Given the description of an element on the screen output the (x, y) to click on. 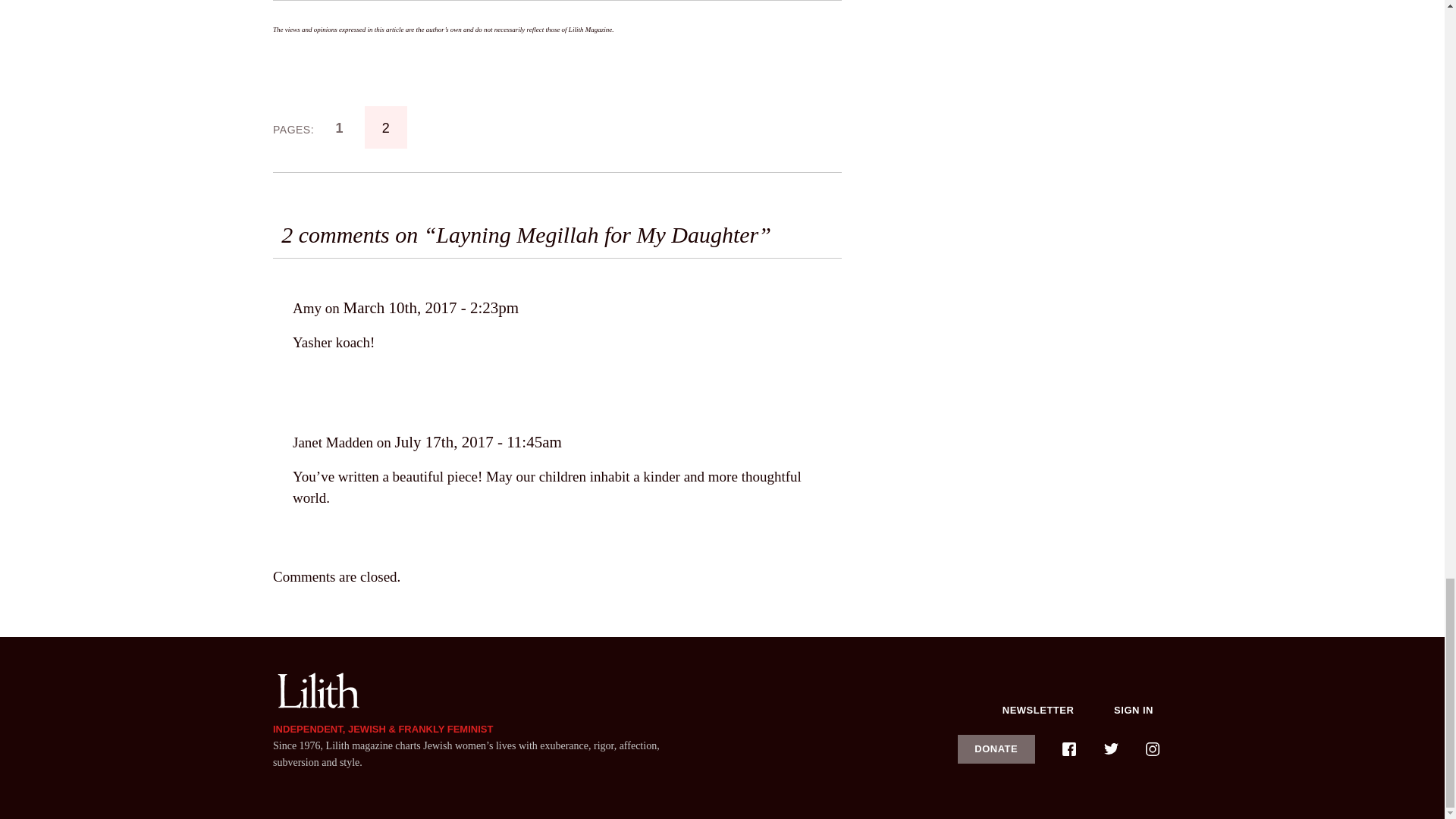
March 10th, 2017 - 2:23pm (430, 307)
DONATE (996, 748)
1 (338, 127)
SIGN IN (1134, 710)
NEWSLETTER (1038, 710)
July 17th, 2017 - 11:45am (478, 442)
